Given the description of an element on the screen output the (x, y) to click on. 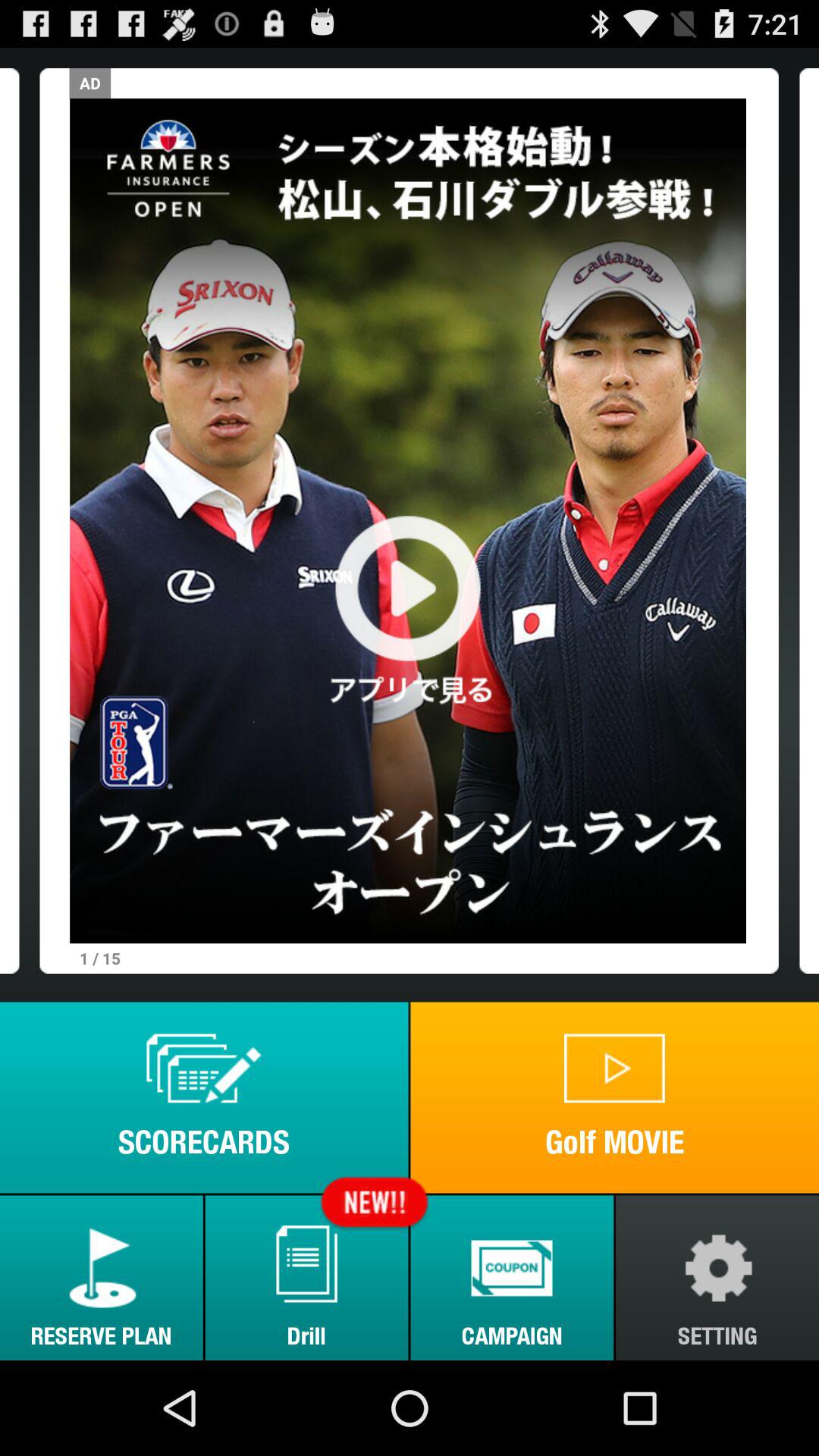
tap the button to the right of the reserve plan (306, 1277)
